Given the description of an element on the screen output the (x, y) to click on. 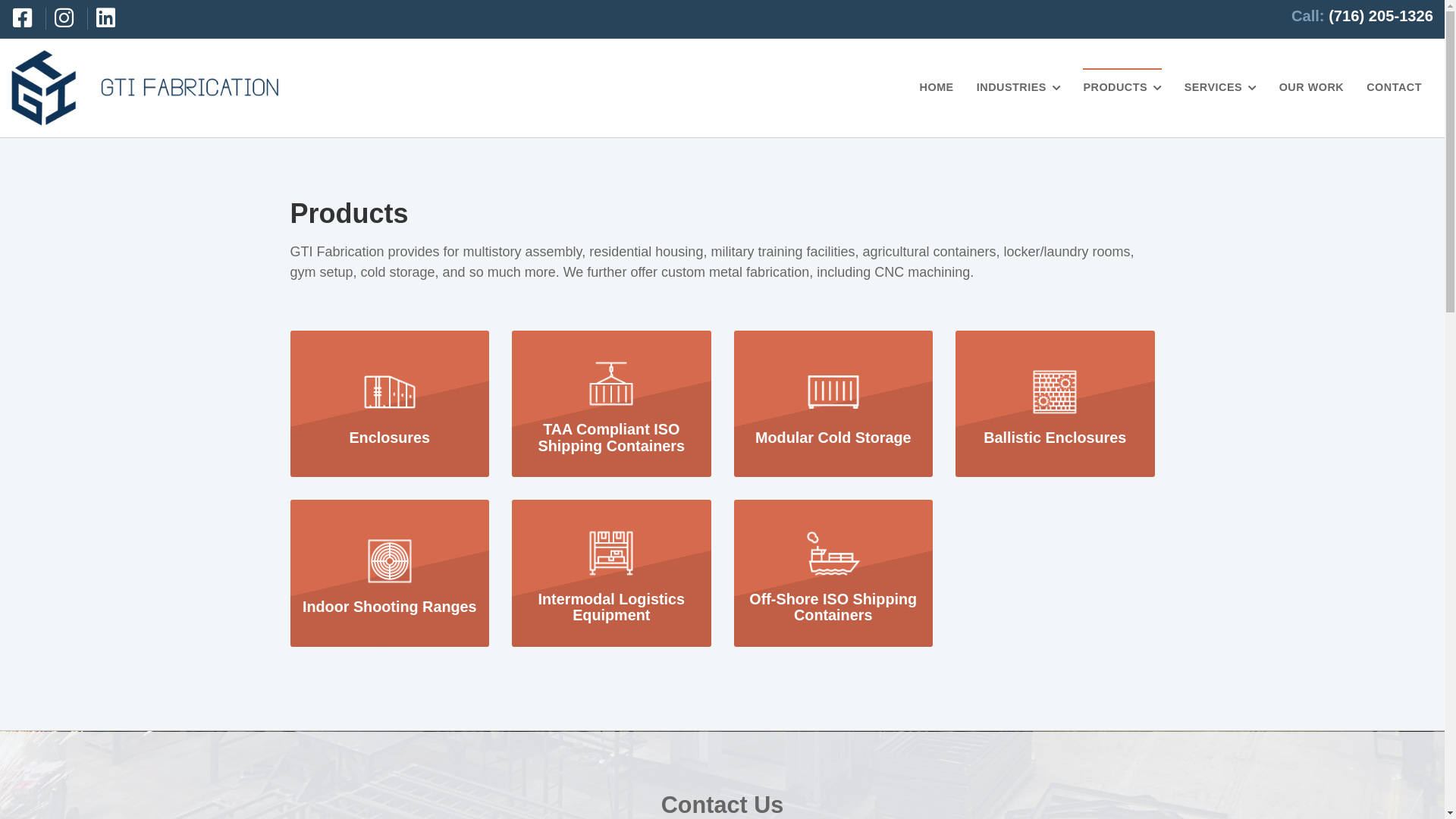
SERVICES Element type: text (1220, 87)
(716) 205-1326 Element type: text (1380, 15)
OUR WORK Element type: text (1311, 87)
  Element type: text (26, 18)
HOME Element type: text (936, 87)
  Element type: text (68, 18)
GTI Fabrication Element type: hover (145, 87)
Modular Cold Storage Element type: text (833, 403)
PRODUCTS Element type: text (1121, 87)
TAA Compliant ISO Shipping Containers Element type: text (611, 403)
CONTACT Element type: text (1394, 87)
Ballistic Enclosures Element type: text (1055, 403)
Enclosures Element type: text (389, 403)
Intermodal Logistics Equipment Element type: text (611, 573)
  Element type: text (109, 18)
Indoor Shooting Ranges Element type: text (389, 572)
INDUSTRIES Element type: text (1018, 87)
Off-Shore ISO Shipping Containers Element type: text (833, 573)
